Given the description of an element on the screen output the (x, y) to click on. 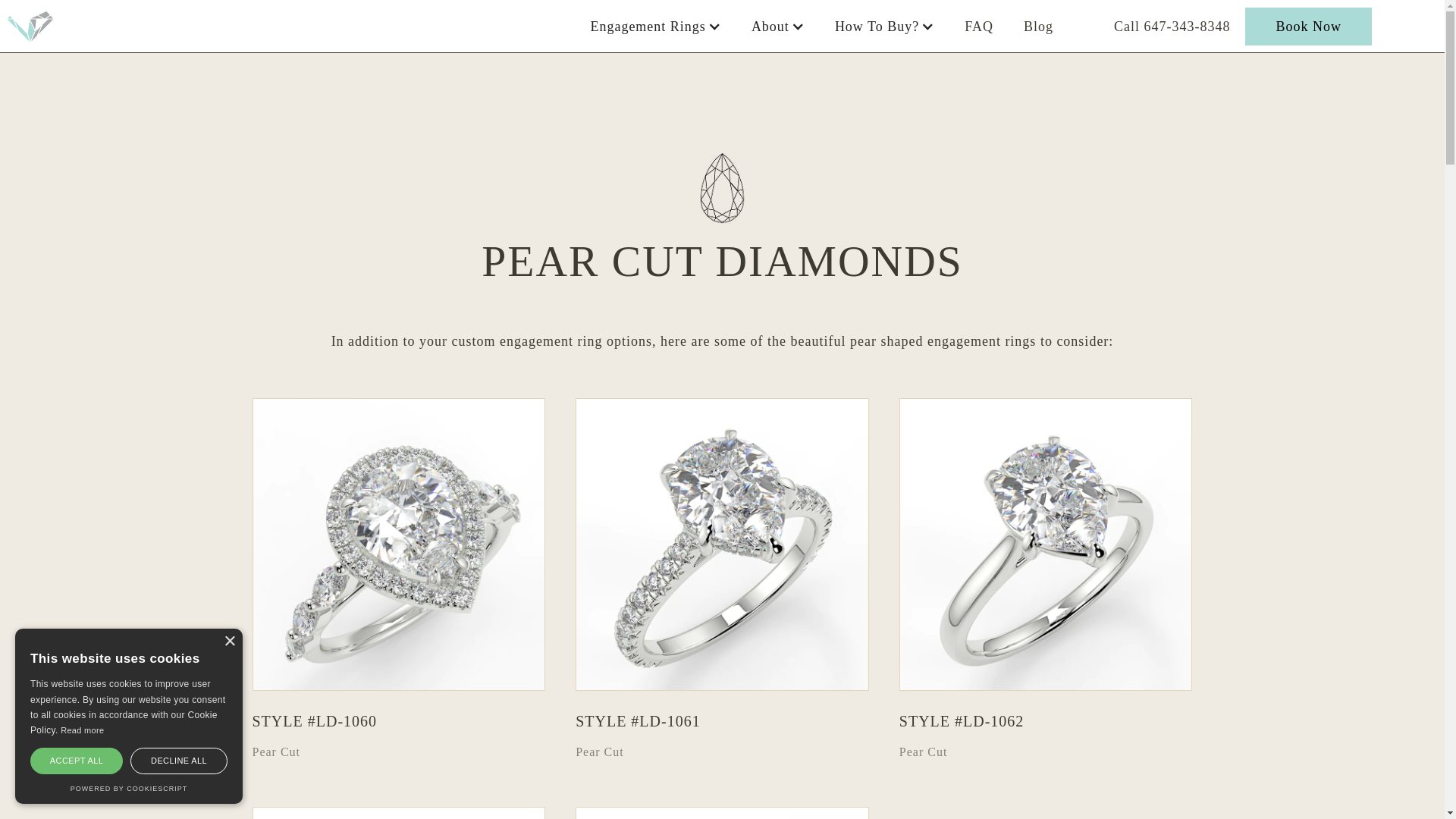
Consent Management Platform (128, 788)
Book Now (1307, 26)
FAQ (979, 25)
Blog (1038, 25)
Call 647-343-8348 (1172, 25)
